Given the description of an element on the screen output the (x, y) to click on. 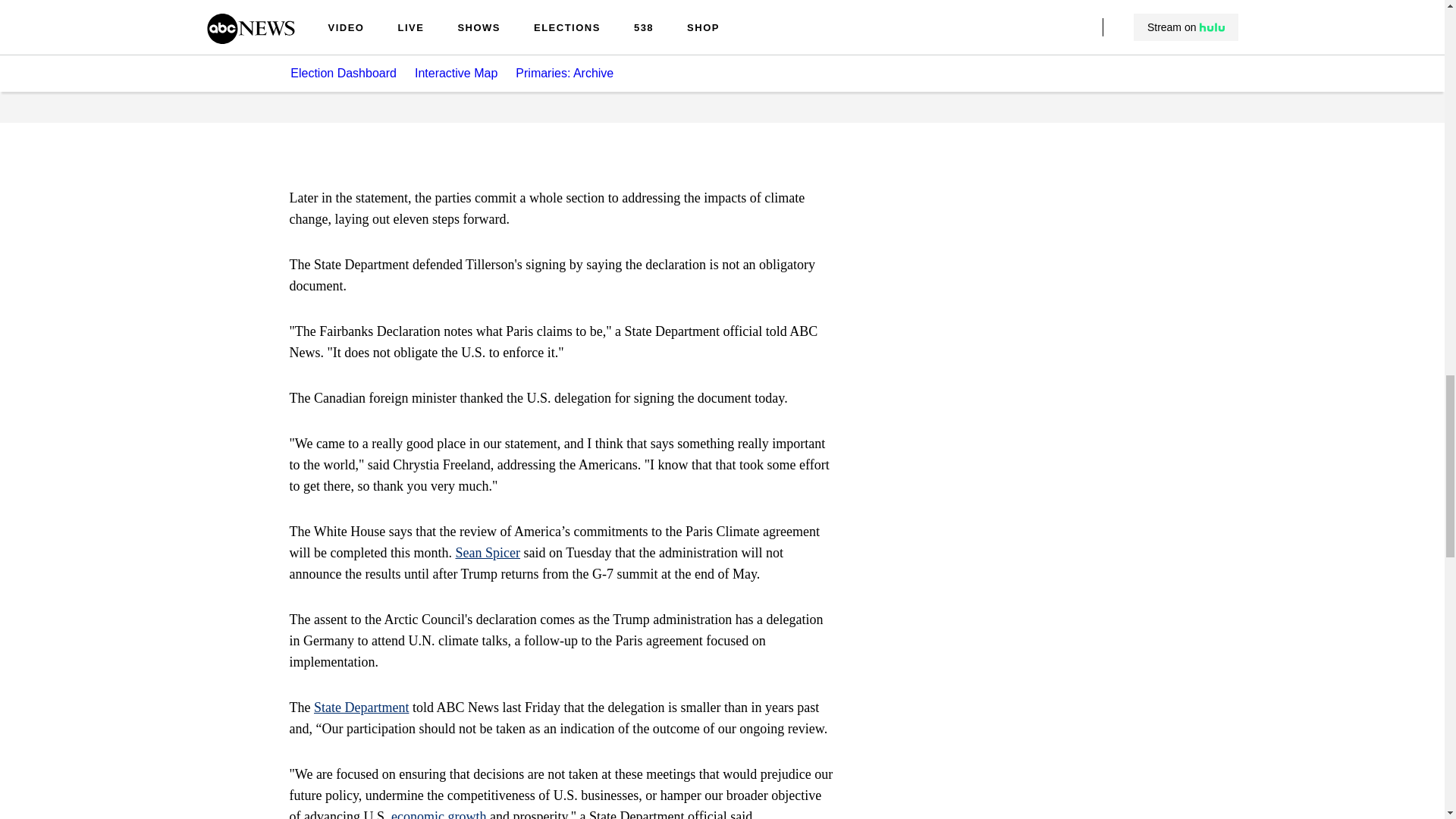
economic growth (438, 814)
State Department (361, 707)
Sean Spicer (486, 552)
